Given the description of an element on the screen output the (x, y) to click on. 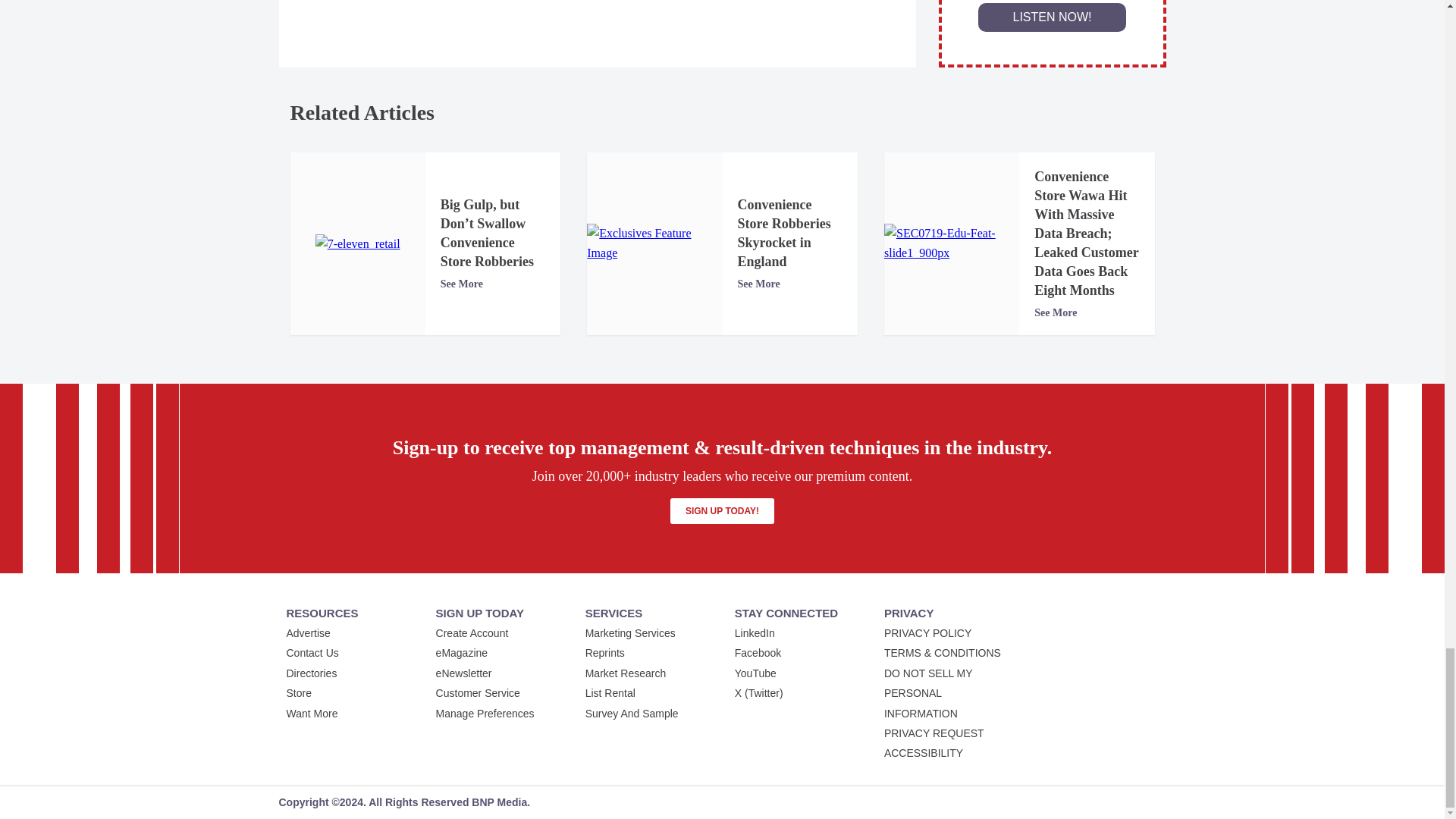
Exclusives Feature Image (654, 243)
